Given the description of an element on the screen output the (x, y) to click on. 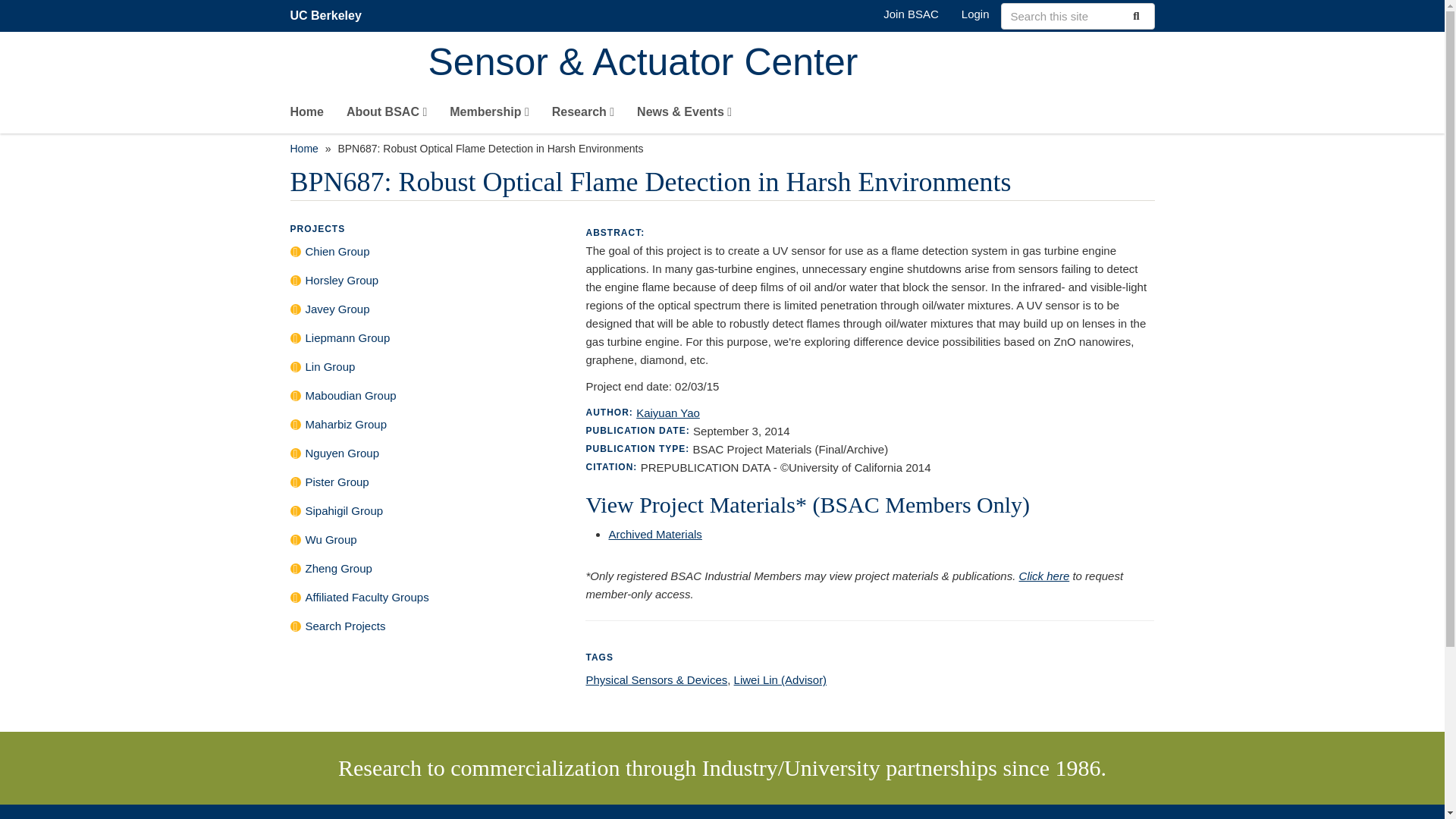
Research (582, 115)
Javey Group (425, 312)
Liepmann Group (425, 341)
UC Berkeley (325, 15)
Login (975, 14)
Membership (489, 115)
Home (791, 63)
Home (303, 148)
PROJECTS (317, 228)
